Given the description of an element on the screen output the (x, y) to click on. 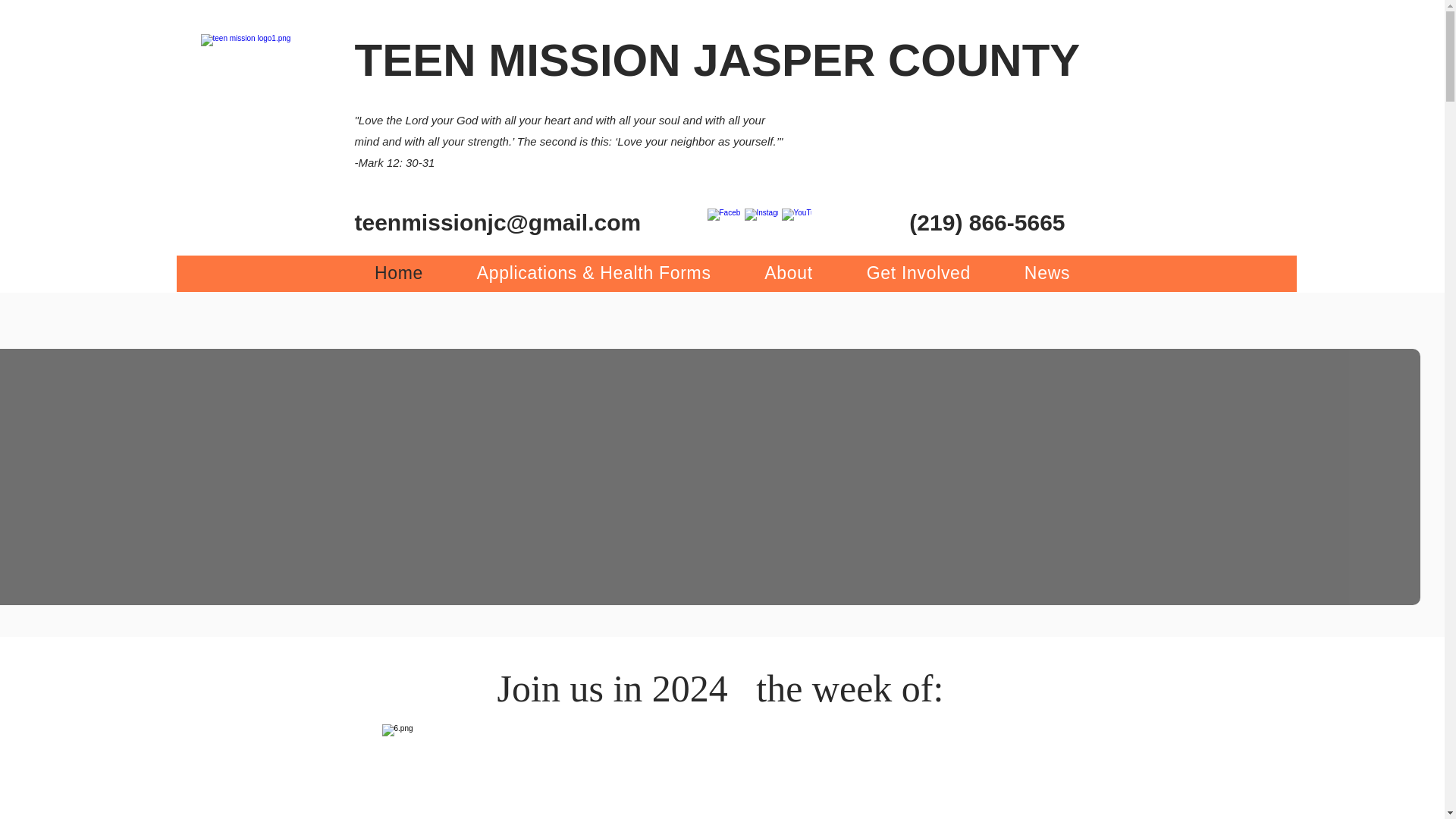
Home (398, 273)
About (788, 273)
News (1046, 273)
Get Involved (918, 273)
